Given the description of an element on the screen output the (x, y) to click on. 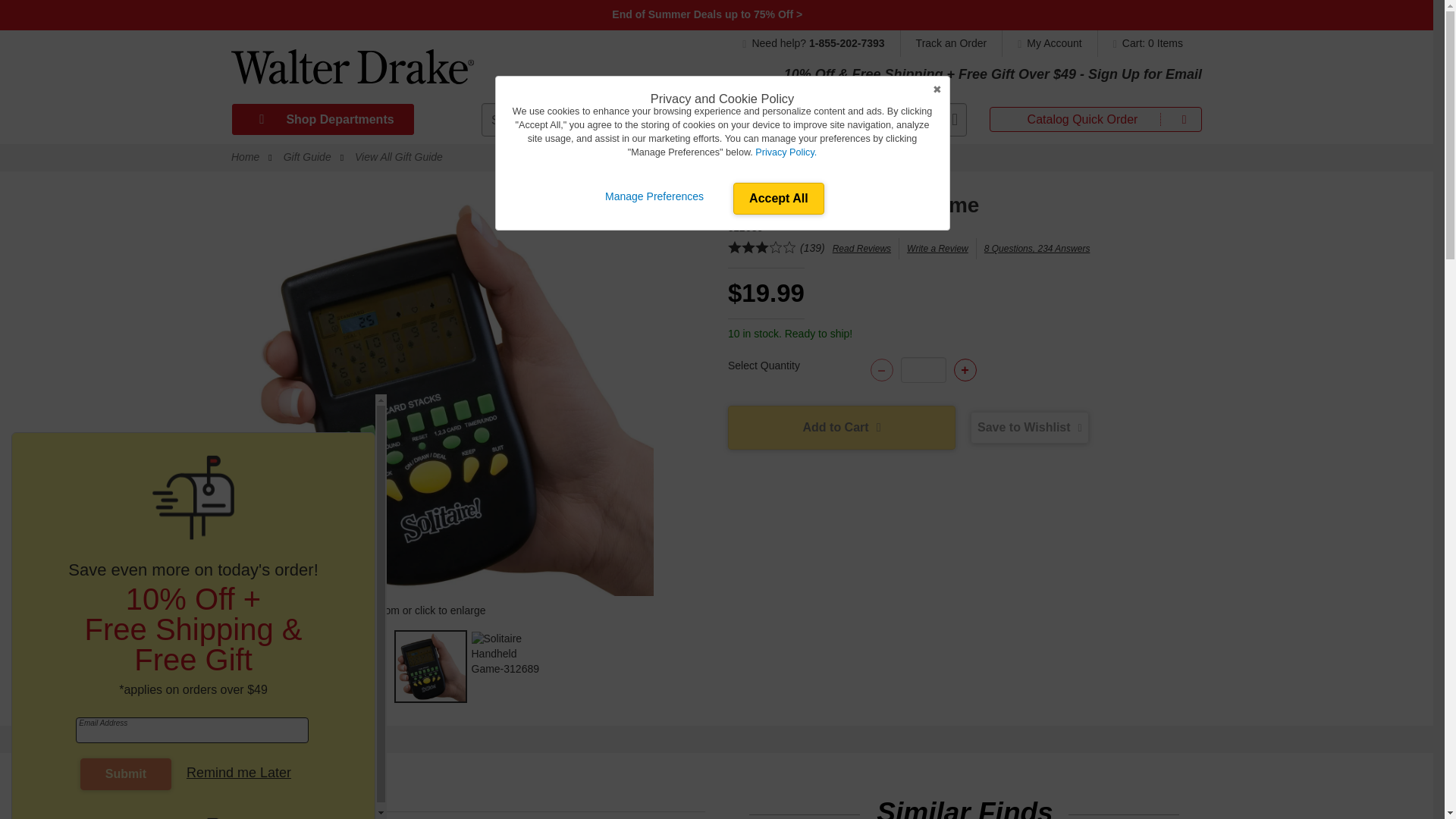
Increase (964, 369)
My Account (1050, 43)
Cart: 0 Items (1144, 43)
Track an Order (952, 43)
Need help? 1-855-202-7393 (820, 43)
Homepage Link (351, 72)
Shop Departments  (322, 119)
sale (707, 14)
Star Rating: 3.1 (762, 249)
Decrease (881, 369)
